Given the description of an element on the screen output the (x, y) to click on. 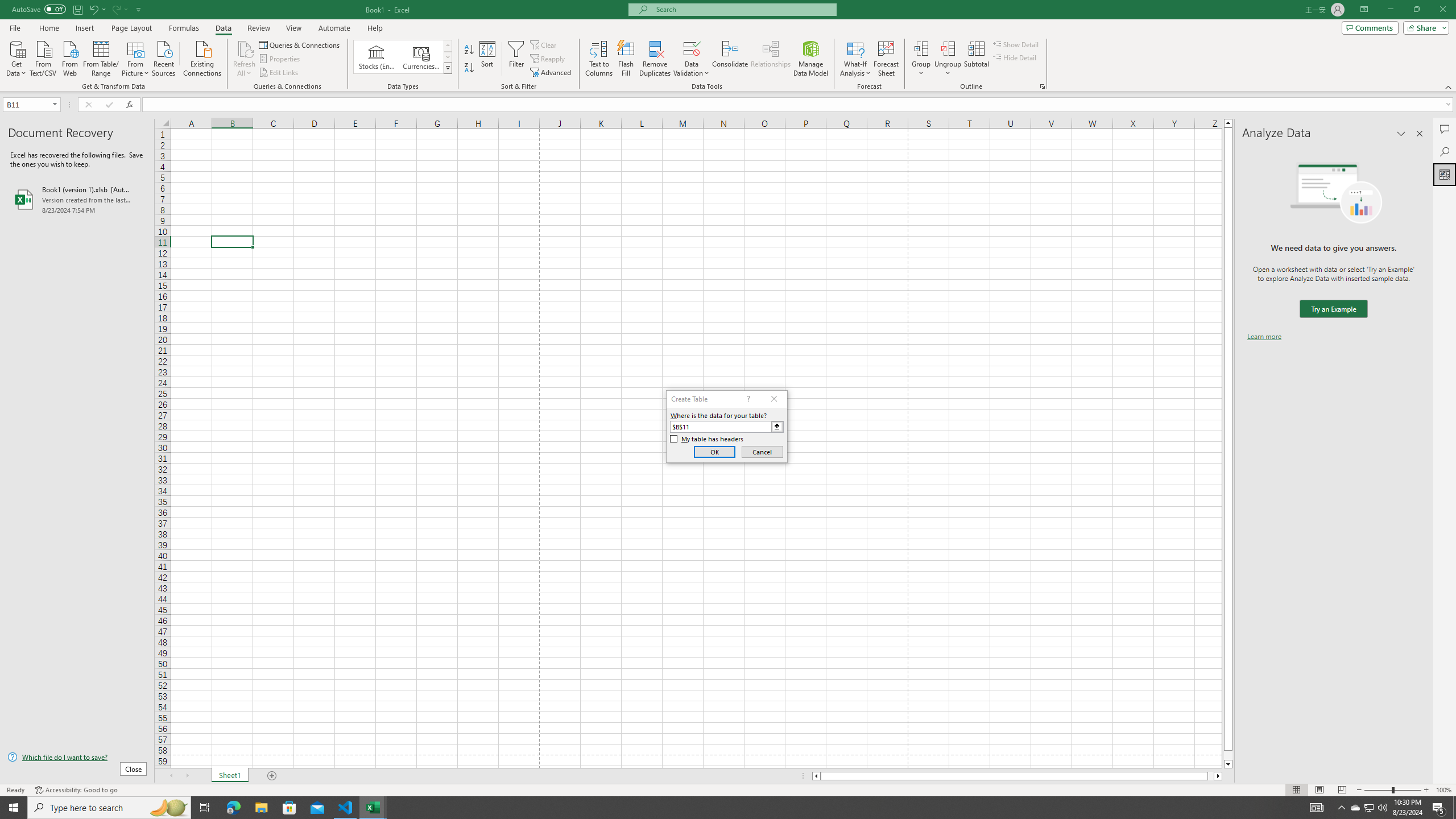
We need data to give you answers. Try an Example (1333, 308)
Hide Detail (1014, 56)
Manage Data Model (810, 58)
